Given the description of an element on the screen output the (x, y) to click on. 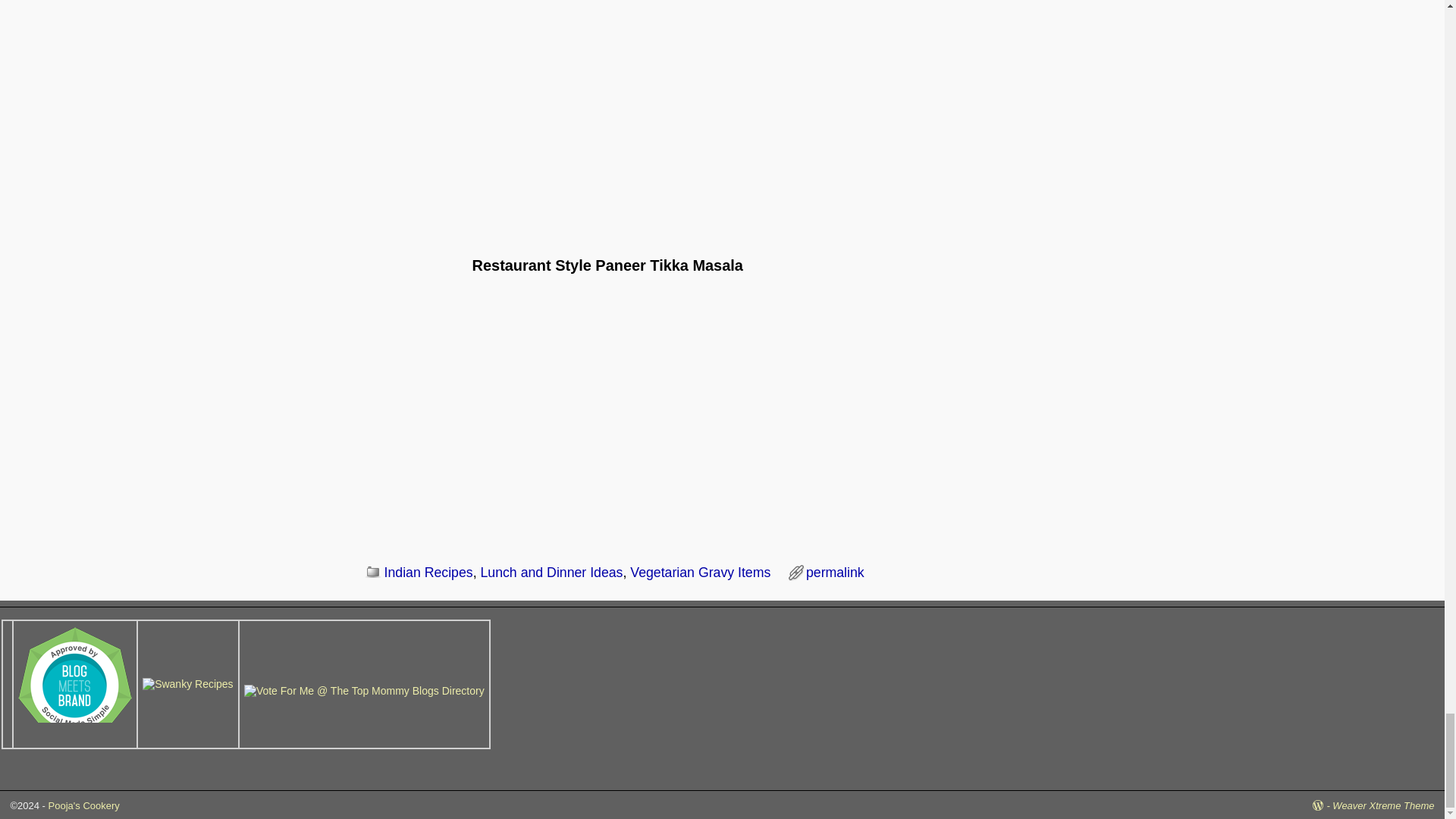
permalink (835, 572)
Restaurant Style Paneer Tikka Masala (606, 415)
Dahi Bhindi  (606, 117)
Lunch and Dinner Ideas (551, 572)
Vegetarian Gravy Items (700, 572)
Indian Recipes (428, 572)
